Given the description of an element on the screen output the (x, y) to click on. 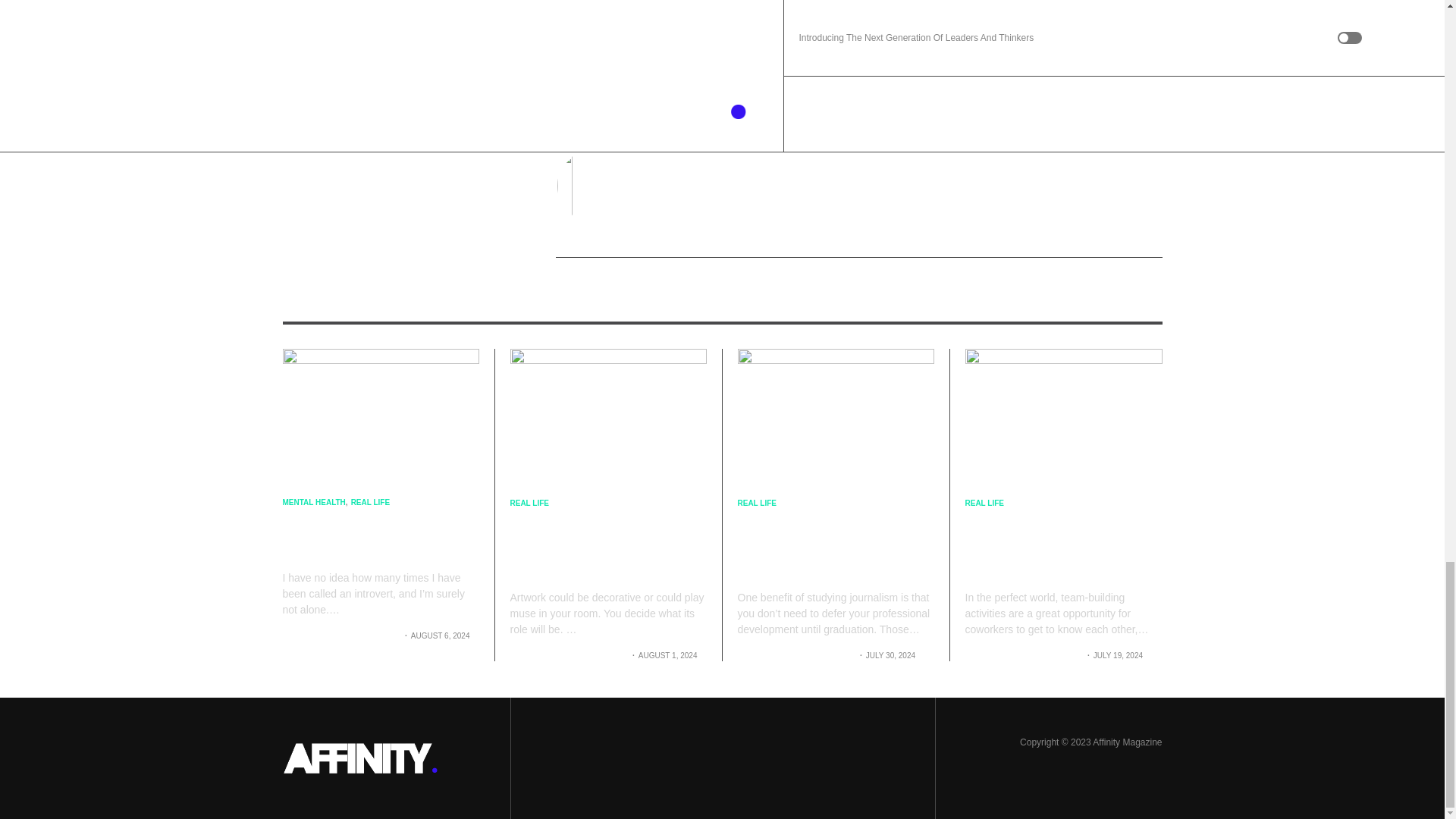
View all posts by Affinity Magazine Staff (1022, 655)
View all posts by Affinity Magazine Staff (794, 655)
View all posts by Affinity Magazine Staff (567, 655)
View all posts by Affinity Magazine Staff (340, 635)
